Given the description of an element on the screen output the (x, y) to click on. 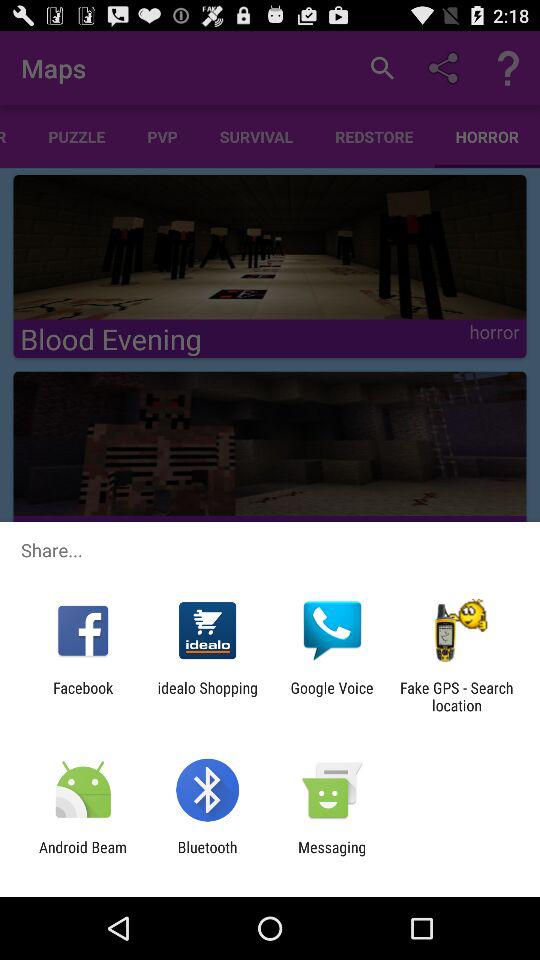
click facebook item (83, 696)
